Given the description of an element on the screen output the (x, y) to click on. 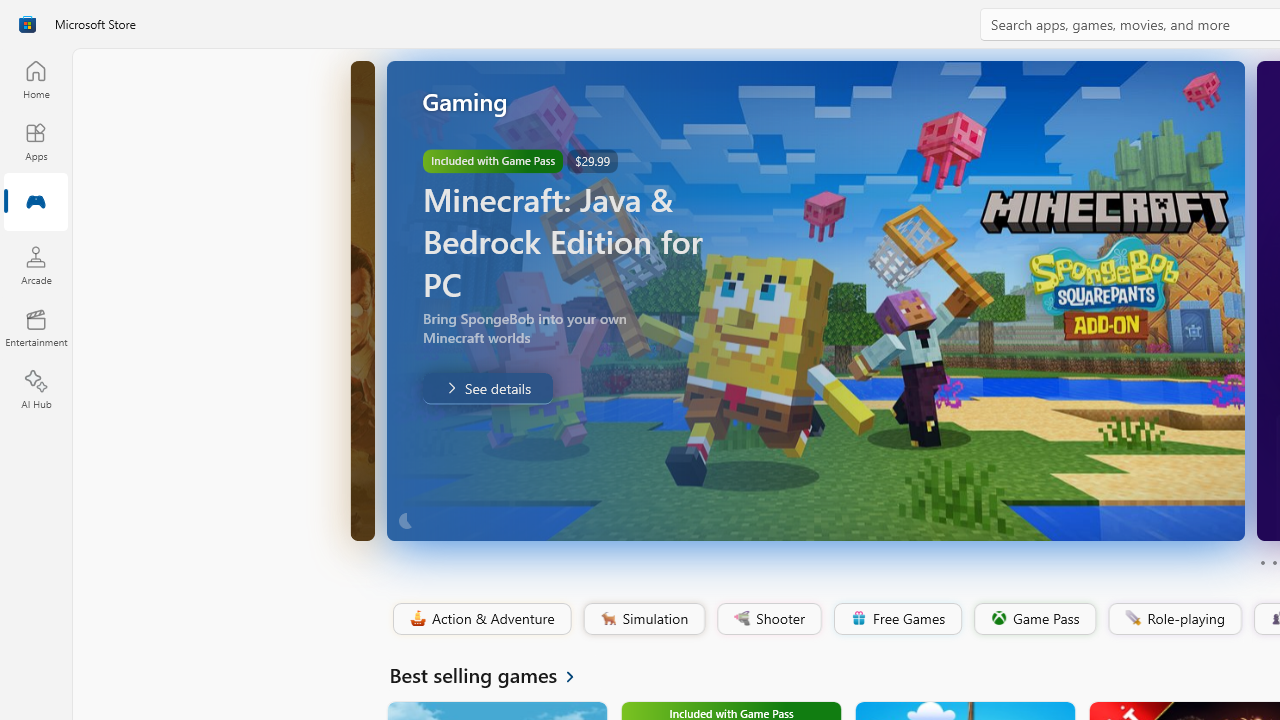
Entertainment (35, 327)
Game Pass (1033, 619)
Free Games (897, 619)
Page 2 (1274, 562)
Class: Image (1132, 617)
See all  Best selling games (493, 674)
Apps (35, 141)
Simulation (643, 619)
Home (35, 79)
Arcade (35, 265)
Page 1 (1261, 562)
Shooter (767, 619)
Action & Adventure (480, 619)
Role-playing (1174, 619)
